Given the description of an element on the screen output the (x, y) to click on. 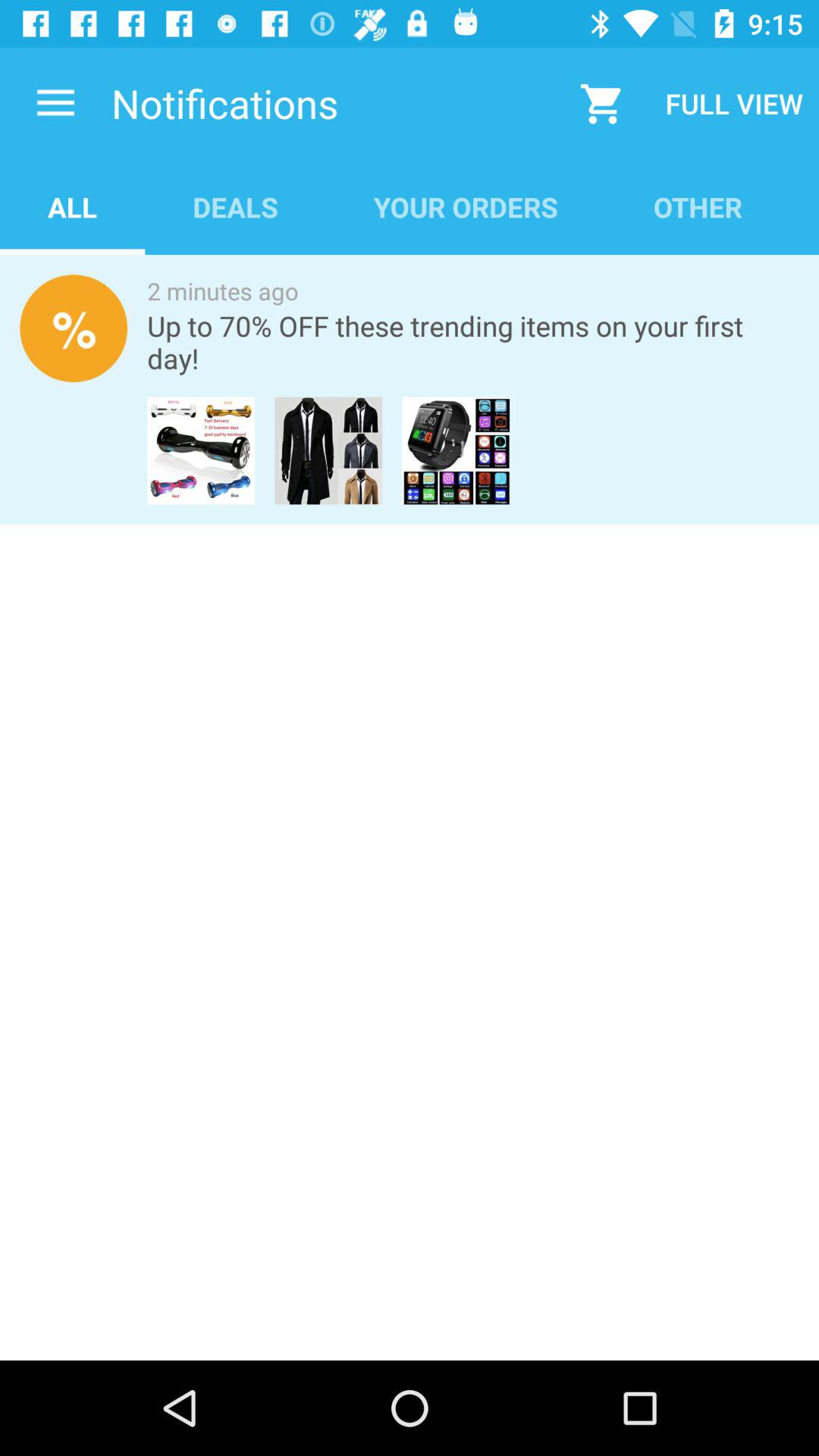
click icon above the up to 70 item (222, 290)
